Given the description of an element on the screen output the (x, y) to click on. 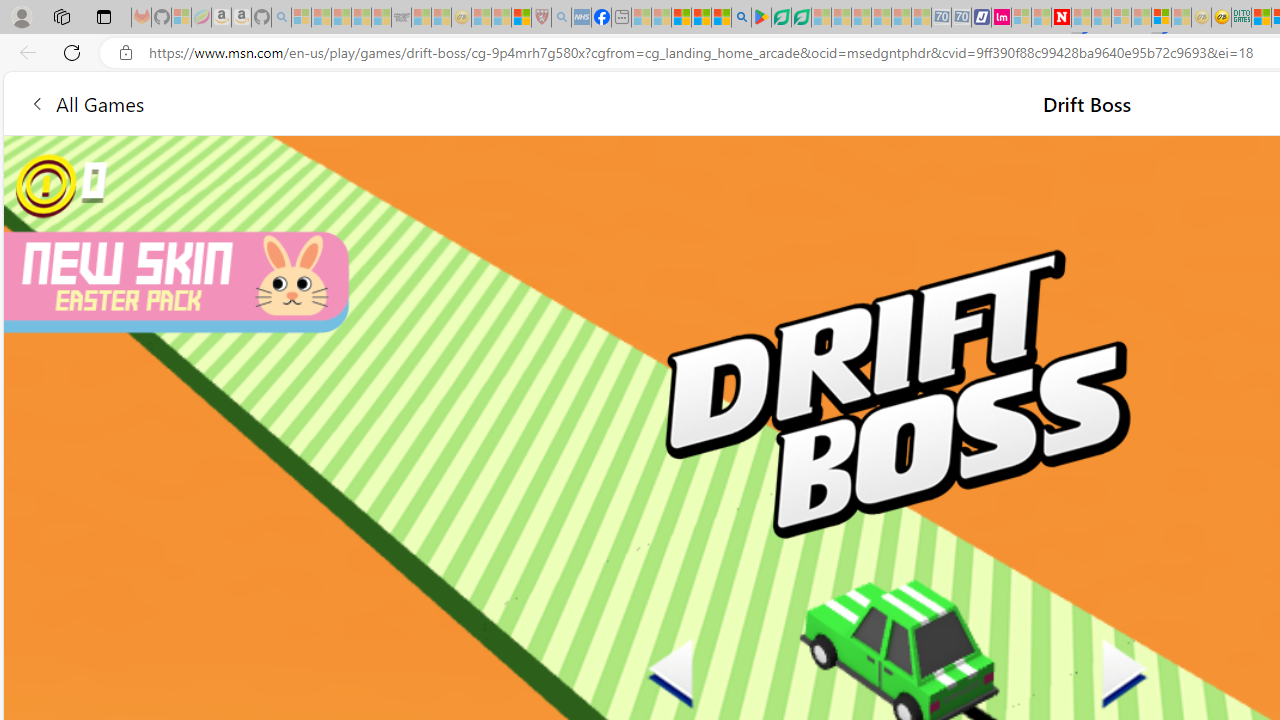
list of asthma inhalers uk - Search - Sleeping (560, 17)
Robert H. Shmerling, MD - Harvard Health - Sleeping (541, 17)
Combat Siege (400, 17)
DITOGAMES AG Imprint (1240, 17)
14 Common Myths Debunked By Scientific Facts - Sleeping (1101, 17)
Recipes - MSN - Sleeping (481, 17)
Cheap Car Rentals - Save70.com - Sleeping (941, 17)
The Weather Channel - MSN - Sleeping (340, 17)
Microsoft-Report a Concern to Bing - Sleeping (180, 17)
Local - MSN (521, 17)
New tab - Sleeping (621, 17)
